Given the description of an element on the screen output the (x, y) to click on. 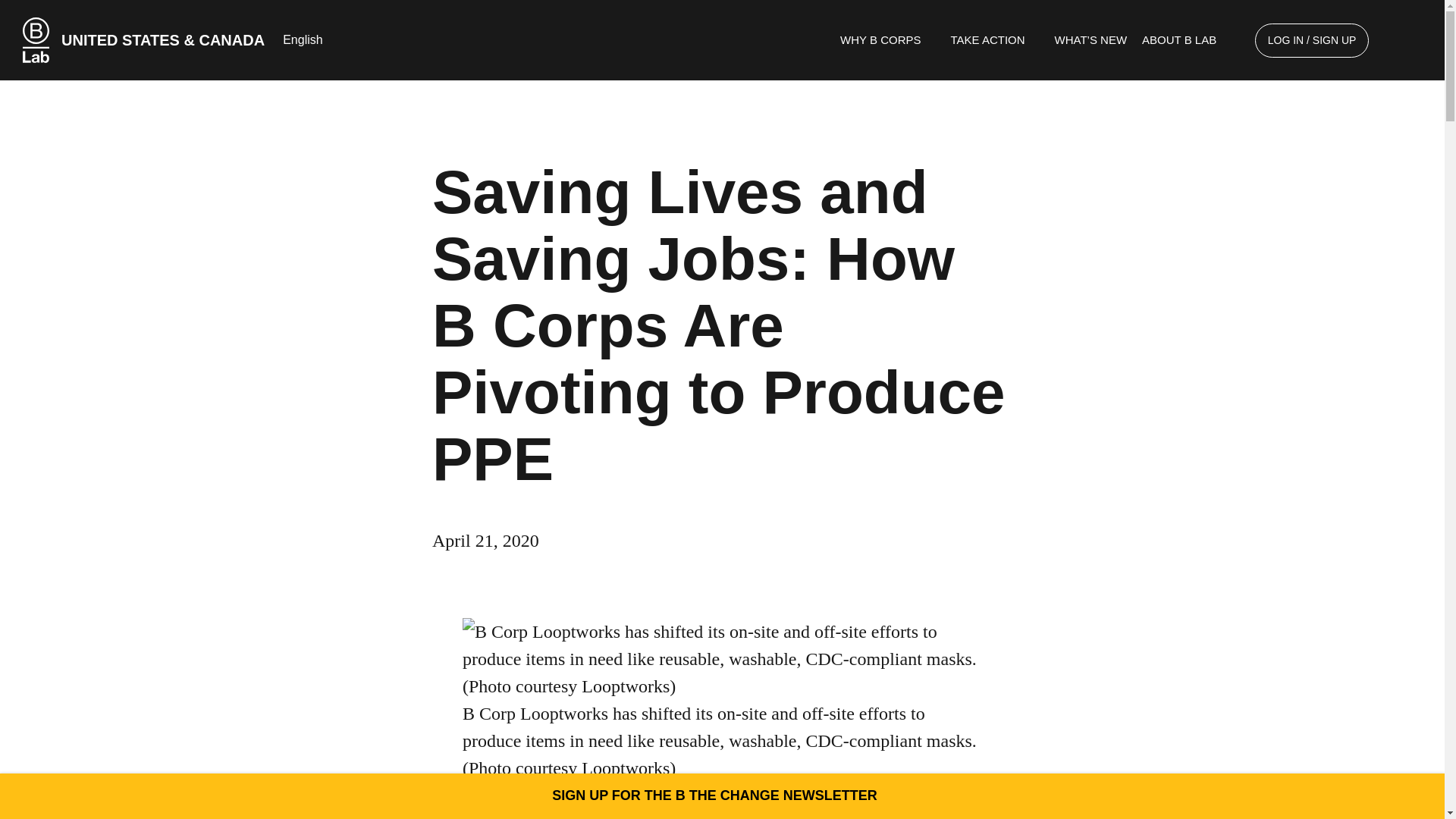
English (309, 39)
ABOUT B LAB (1185, 39)
